Given the description of an element on the screen output the (x, y) to click on. 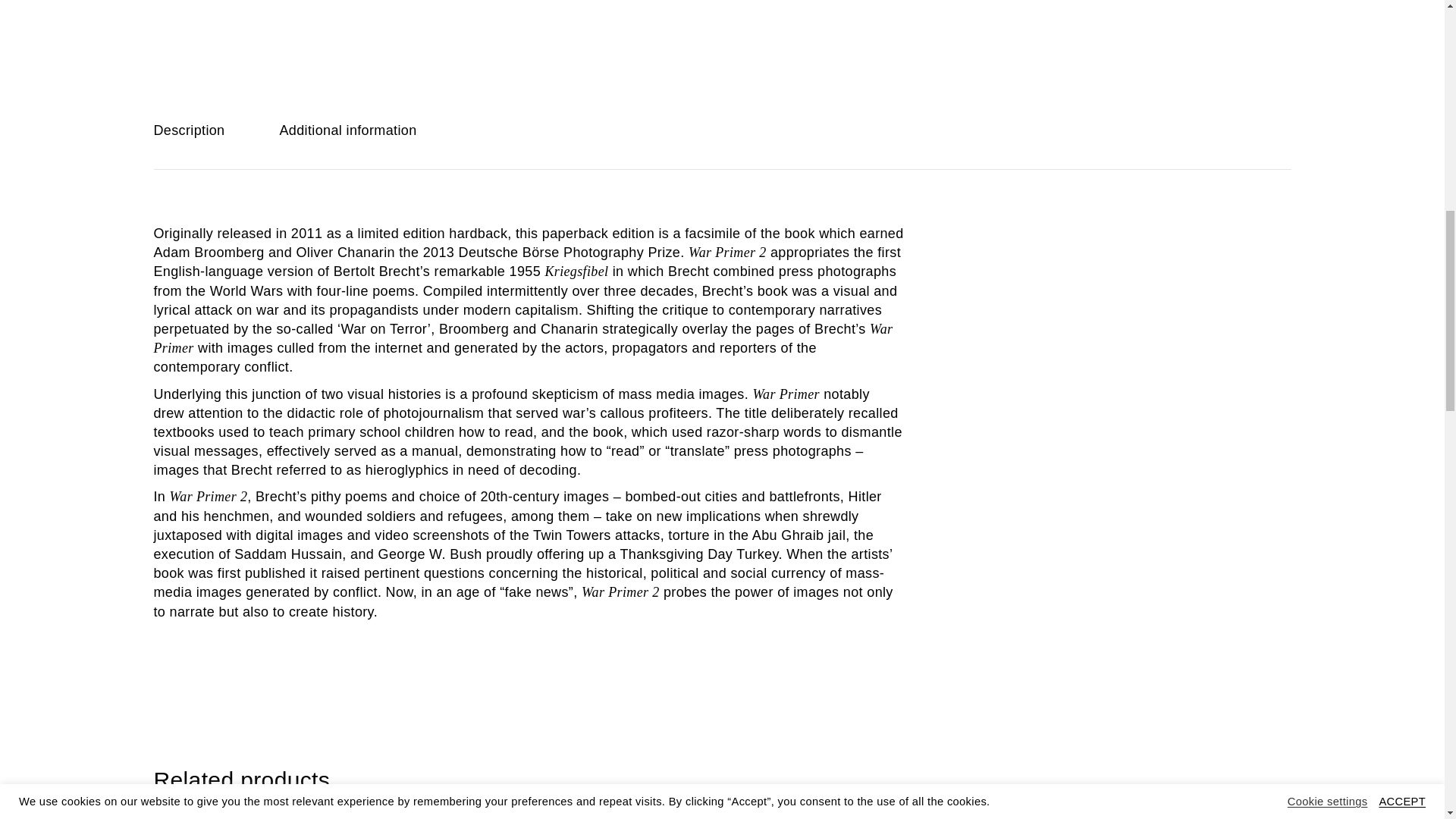
Additional information (347, 130)
Description (188, 130)
